Given the description of an element on the screen output the (x, y) to click on. 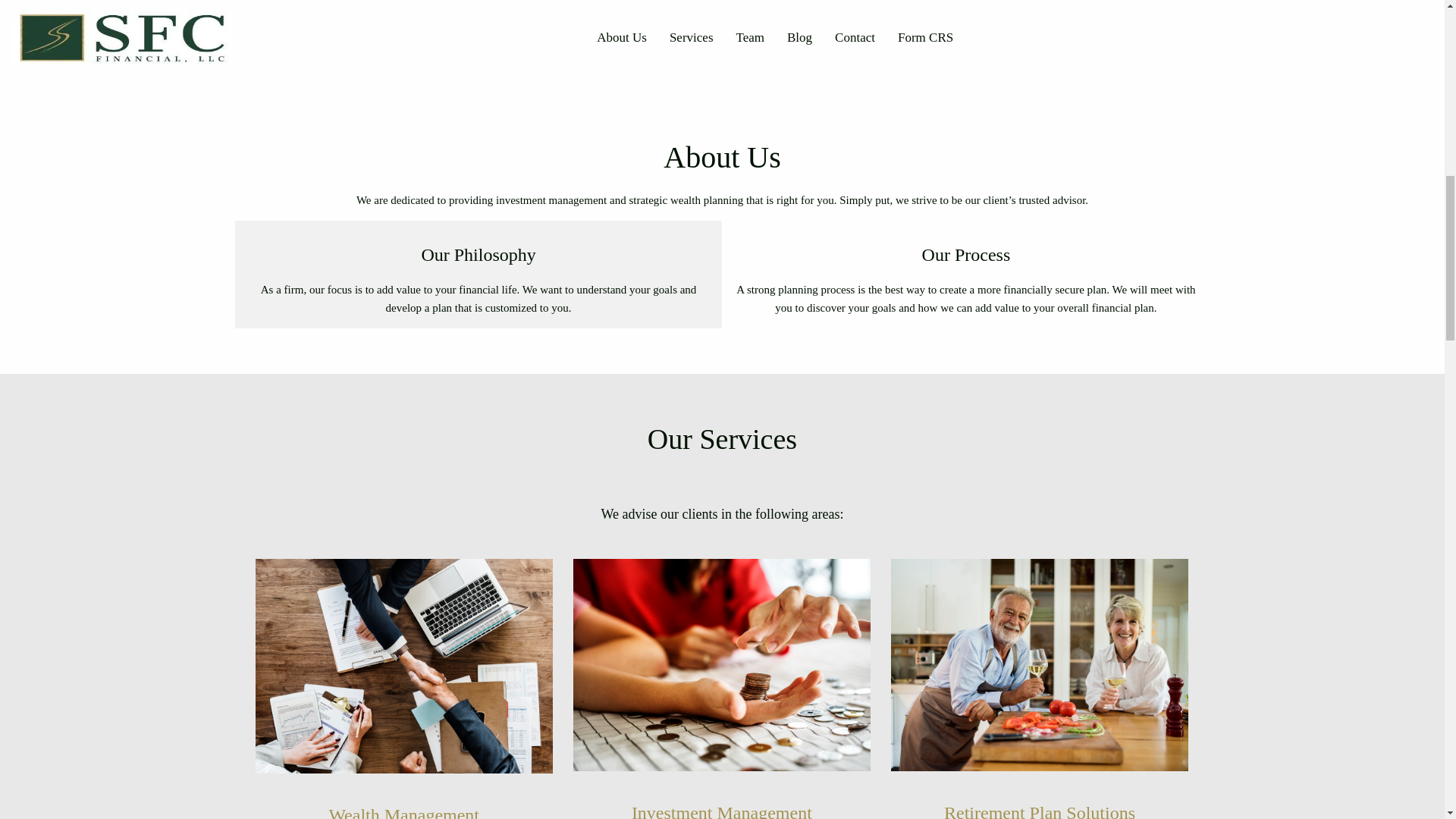
Investment Management (721, 814)
retired-couple.jpg (1039, 665)
Retirement Plan Solutions (1039, 814)
Wealth Management (404, 816)
investment.jpg (721, 665)
